Given the description of an element on the screen output the (x, y) to click on. 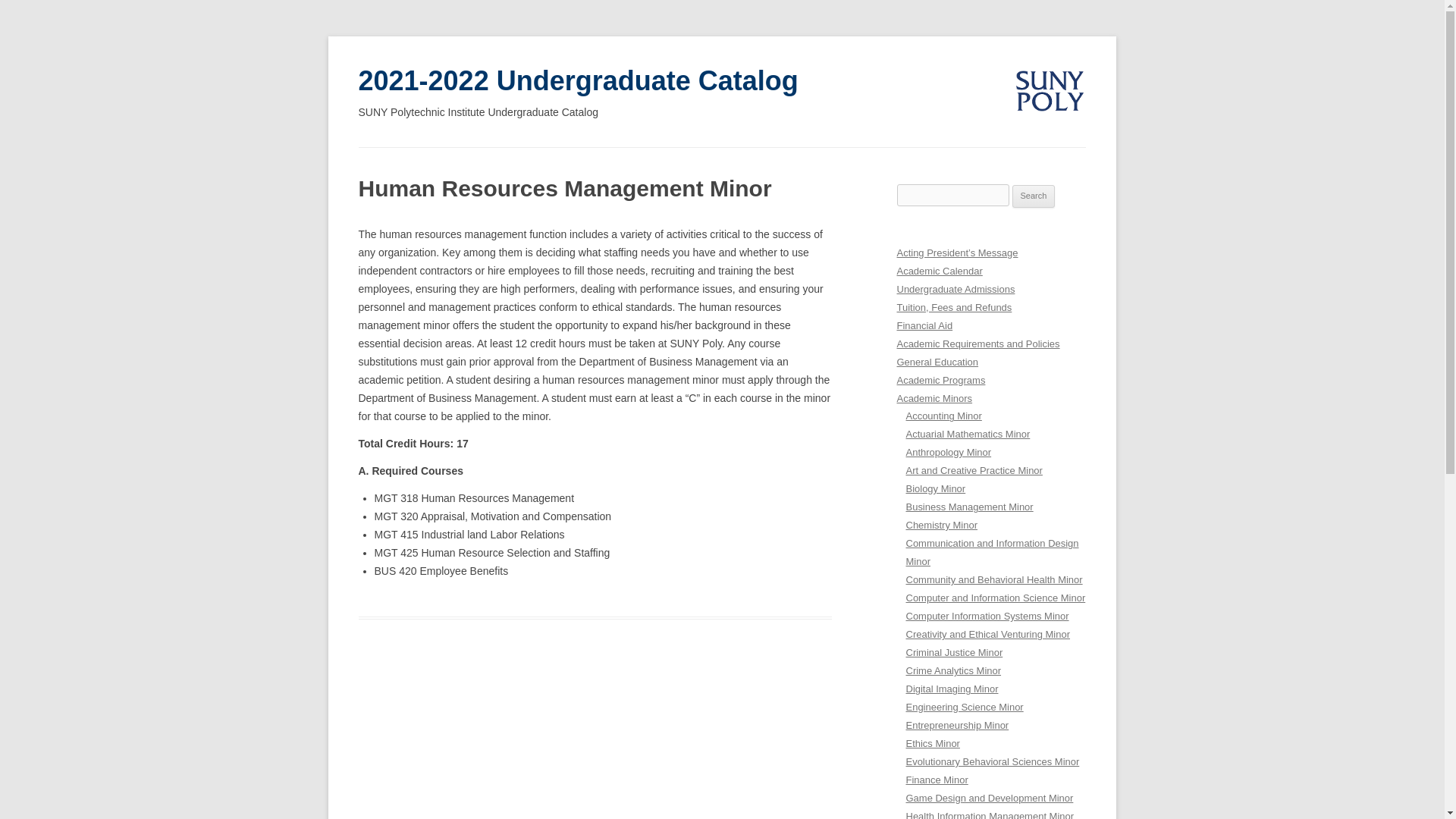
Financial Aid (924, 325)
Undergraduate Admissions (955, 288)
Tuition, Fees and Refunds (953, 307)
2021-2022 Undergraduate Catalog (577, 81)
Academic Calendar (938, 270)
Search (1033, 196)
Academic Requirements and Policies (977, 343)
2021-2022 Undergraduate Catalog (577, 81)
Search (1033, 196)
